Given the description of an element on the screen output the (x, y) to click on. 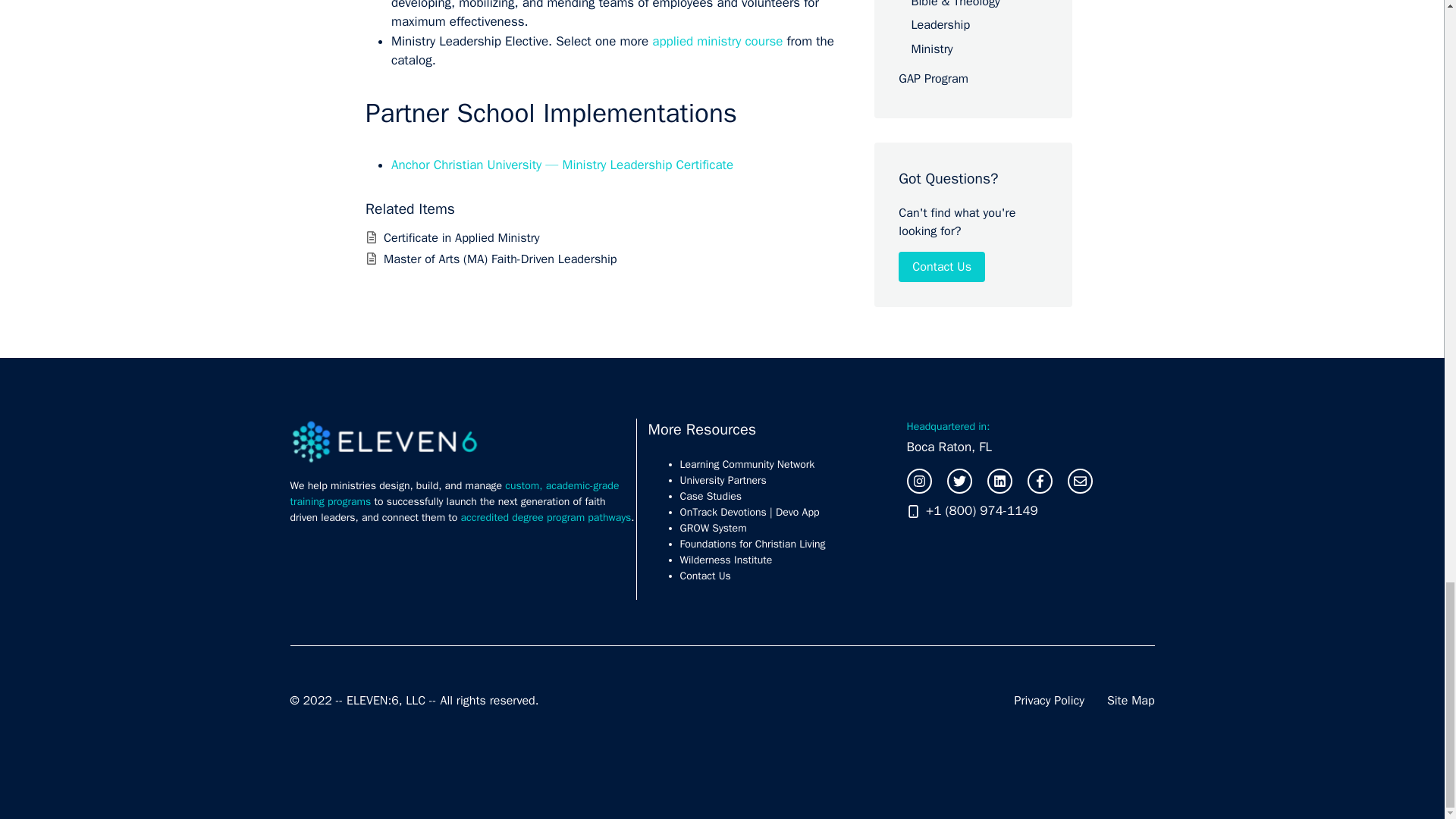
OnTrack Devotions (722, 512)
Foundations for Christian Living (752, 543)
Wilderness Institute (725, 559)
GROW System (712, 527)
applied ministry course (717, 41)
Case Studies (710, 495)
Learning Community Network (746, 463)
Certificate in Applied Ministry (462, 237)
University Partners (722, 480)
Devo App (797, 512)
